Given the description of an element on the screen output the (x, y) to click on. 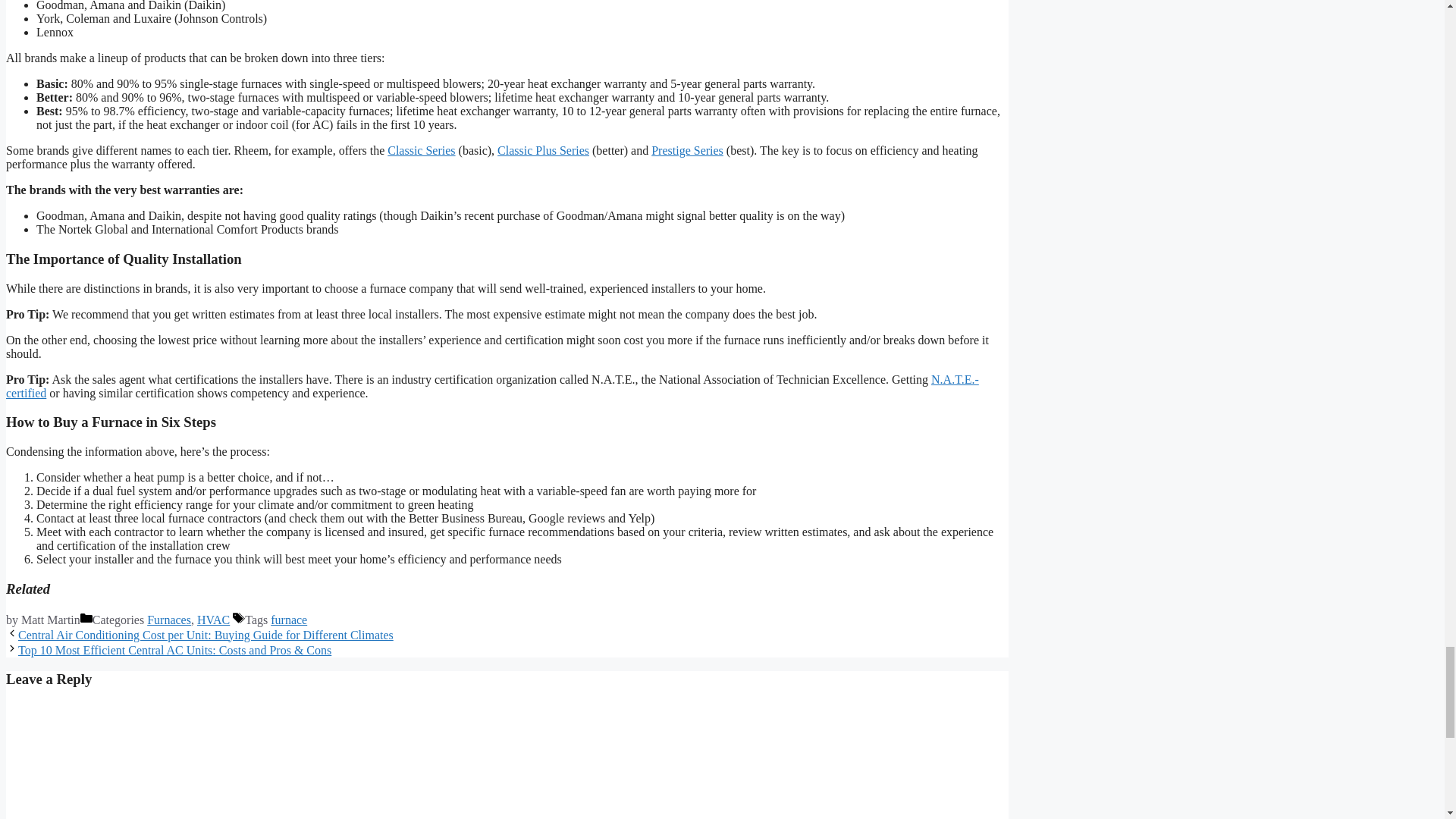
Furnaces (168, 619)
Classic Series (420, 150)
HVAC (213, 619)
Prestige Series (686, 150)
Comment Form (507, 760)
furnace (288, 619)
Classic Plus Series (543, 150)
N.A.T.E.-certified (491, 386)
